Given the description of an element on the screen output the (x, y) to click on. 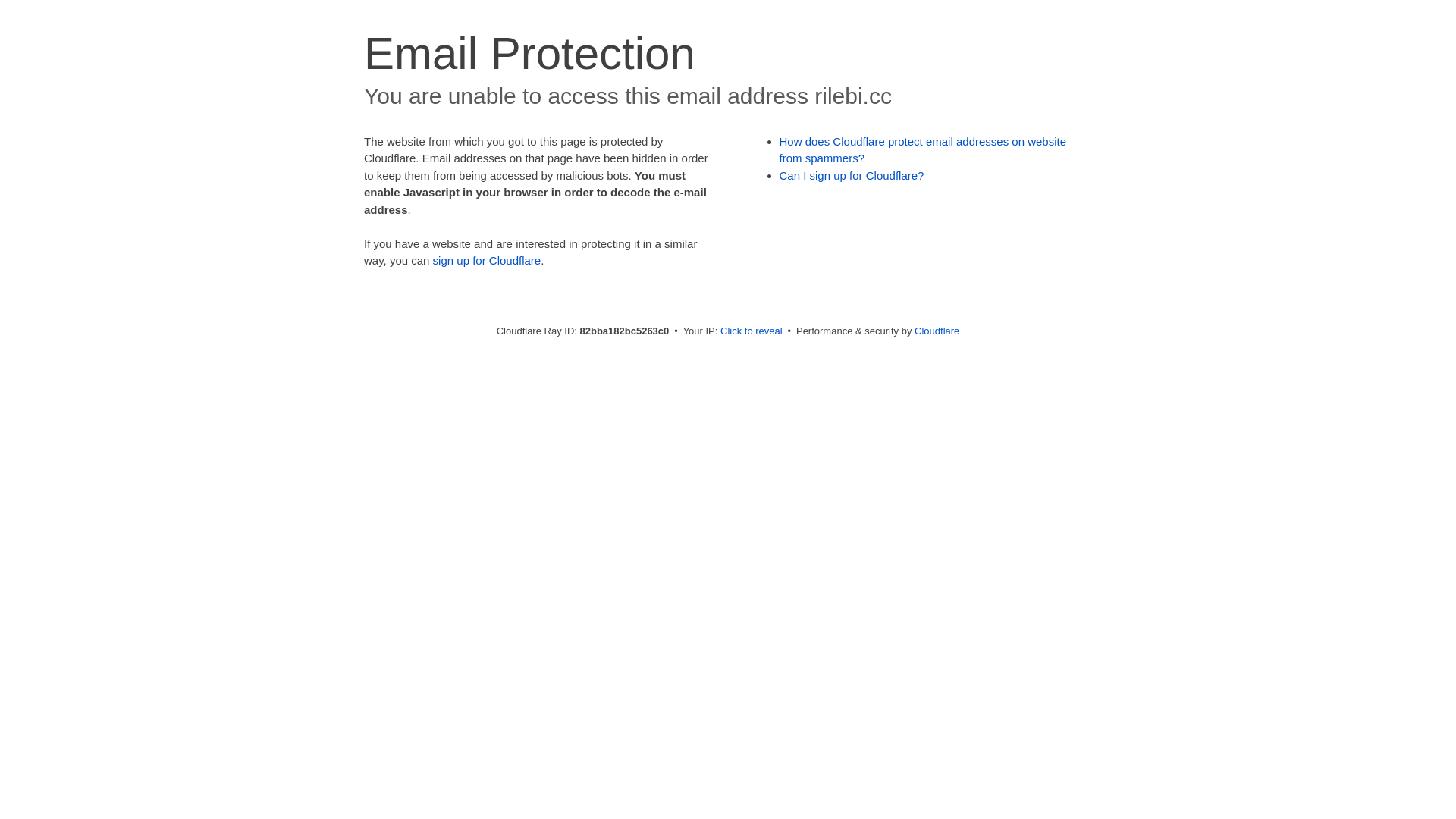
Can I sign up for Cloudflare? Element type: text (851, 175)
Cloudflare Element type: text (936, 330)
Click to reveal Element type: text (751, 330)
sign up for Cloudflare Element type: text (487, 260)
